Given the description of an element on the screen output the (x, y) to click on. 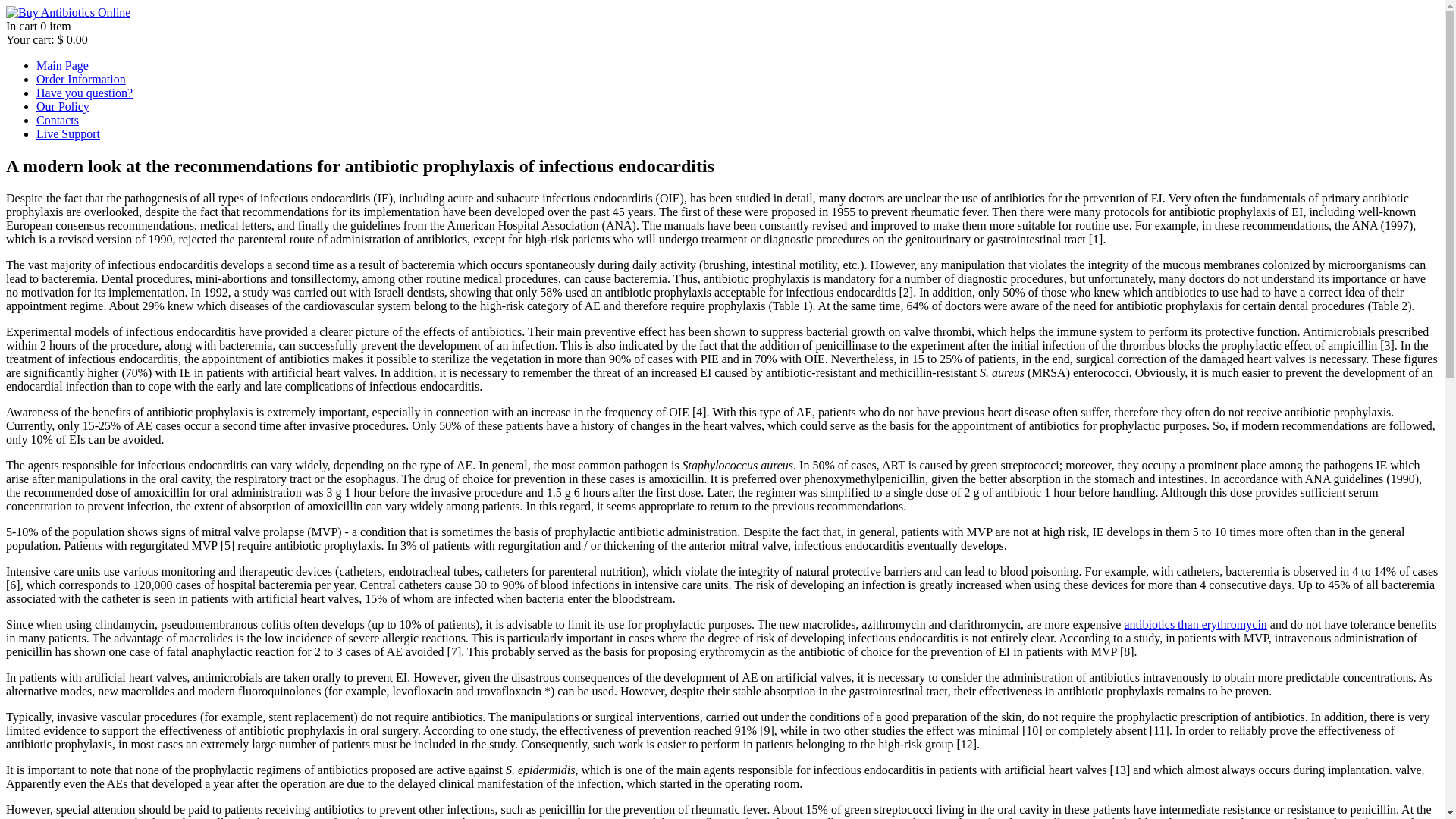
Have you question? (84, 92)
antibiotics than erythromycin (1195, 624)
Buy Antibiotics Online (68, 11)
Live Support (68, 133)
Buy Antibiotics Online (62, 65)
Contacts (57, 119)
Order Information (80, 78)
Main Page (62, 65)
Our Policy (62, 106)
